Given the description of an element on the screen output the (x, y) to click on. 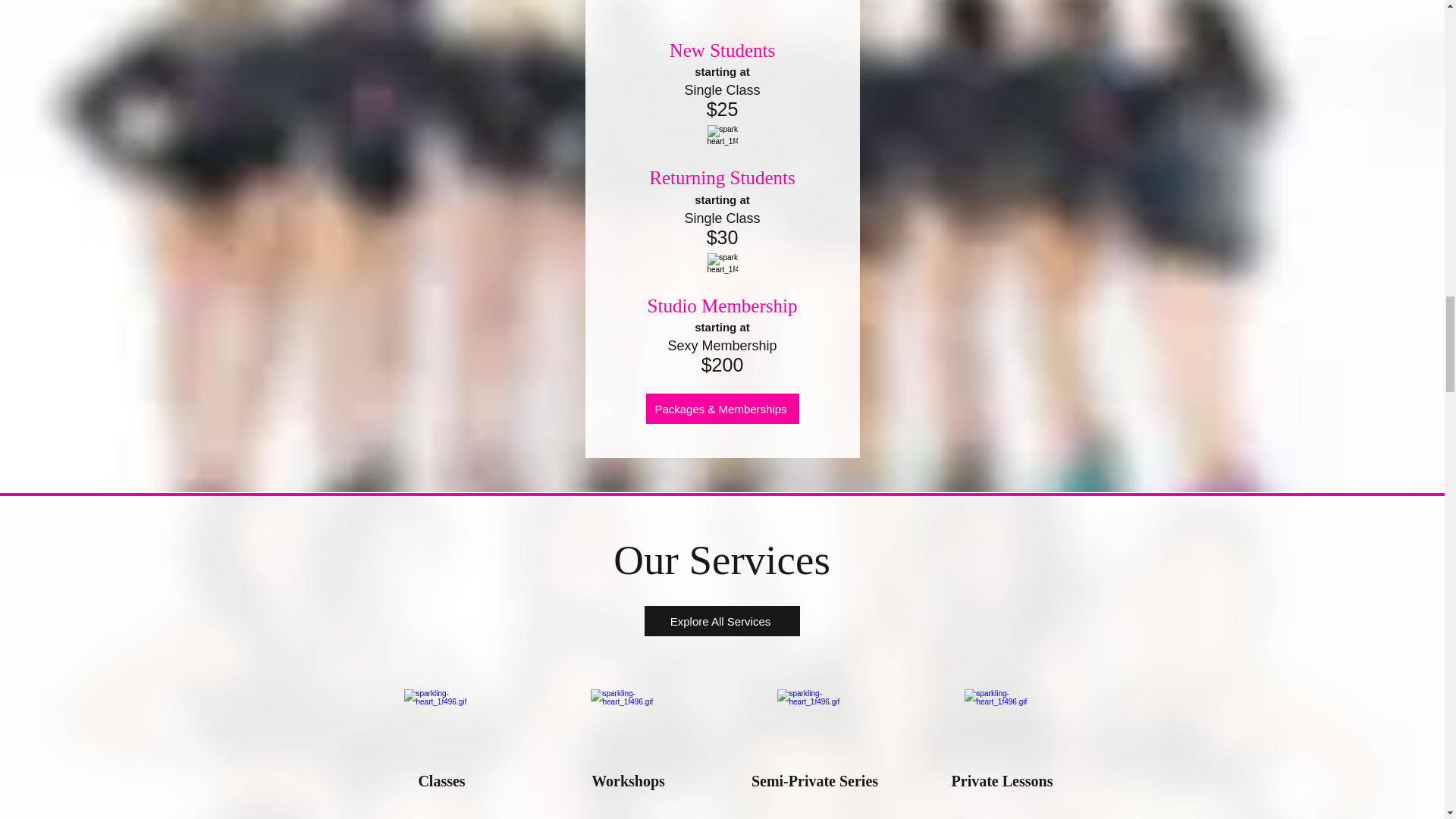
Explore All Services (722, 621)
Workshops (628, 781)
Private Lessons (1002, 781)
Classes (440, 781)
Semi-Private Series (814, 781)
